Given the description of an element on the screen output the (x, y) to click on. 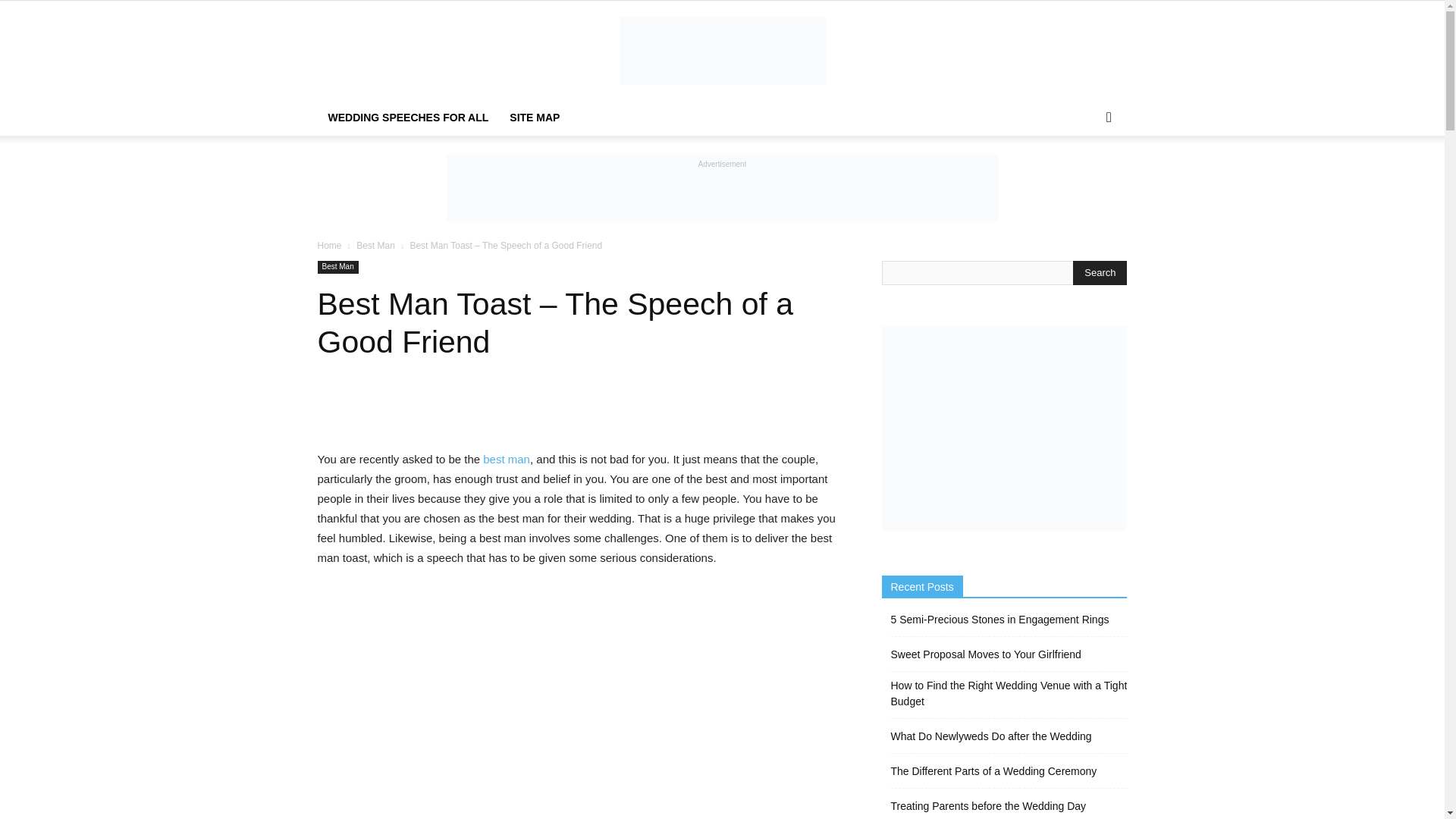
Best Man (337, 267)
Best Man (375, 245)
best man (506, 459)
Search (1099, 273)
SITE MAP (534, 117)
Search (1085, 178)
Wedding Tips for All (721, 50)
WEDDING SPEECHES FOR ALL (408, 117)
View all posts in Best Man (375, 245)
Home (328, 245)
